Given the description of an element on the screen output the (x, y) to click on. 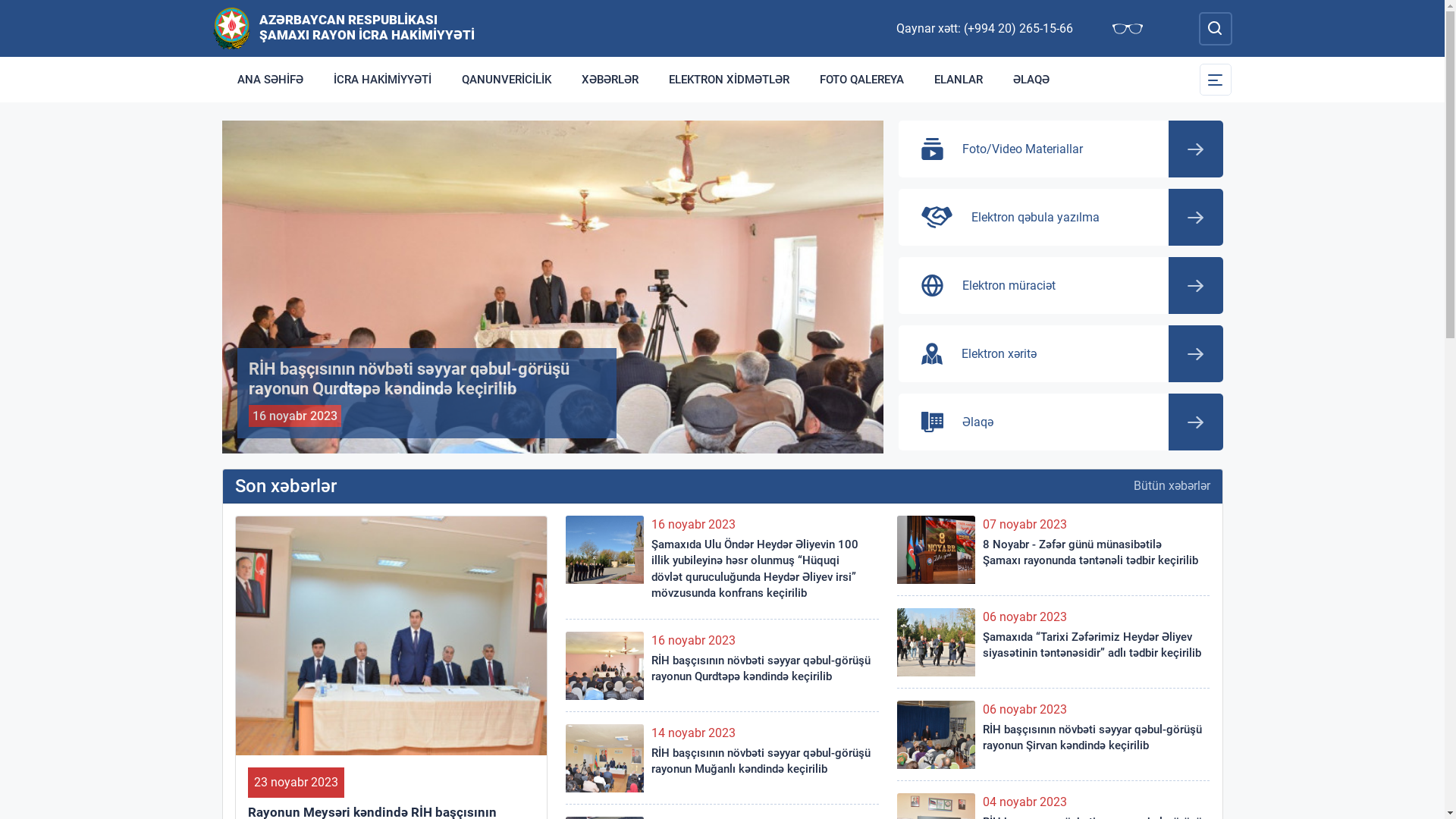
FOTO QALEREYA Element type: text (860, 79)
ELANLAR Element type: text (958, 79)
Foto/Video Materiallar Element type: text (1059, 148)
QANUNVERICILIK Element type: text (505, 79)
